Given the description of an element on the screen output the (x, y) to click on. 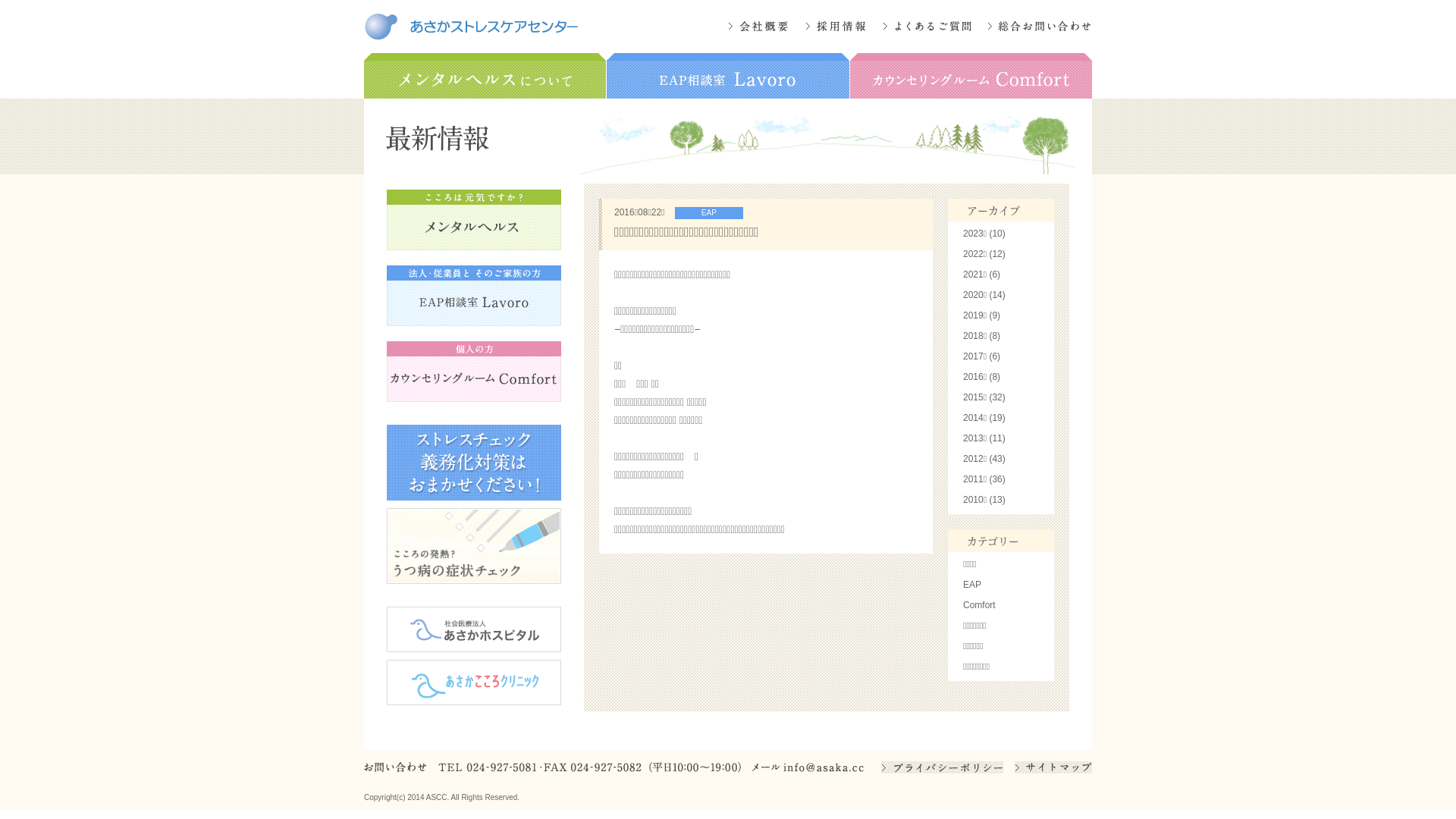
EAP Element type: text (705, 212)
EAP Element type: text (972, 584)
Comfort Element type: text (979, 604)
